Given the description of an element on the screen output the (x, y) to click on. 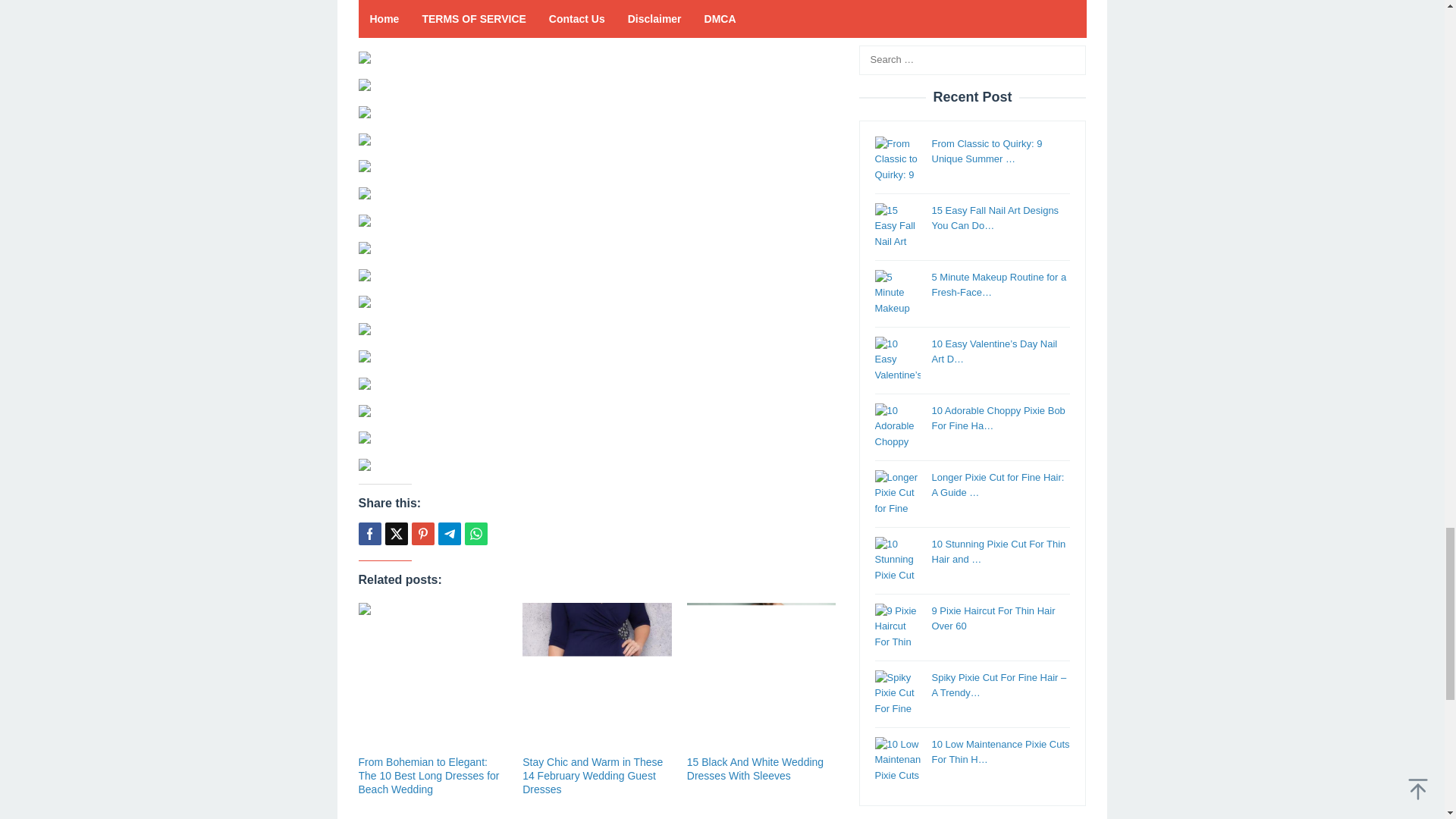
Pin this (421, 533)
Tweet this (396, 533)
Telegram Share (449, 533)
Whatsapp (475, 533)
